Given the description of an element on the screen output the (x, y) to click on. 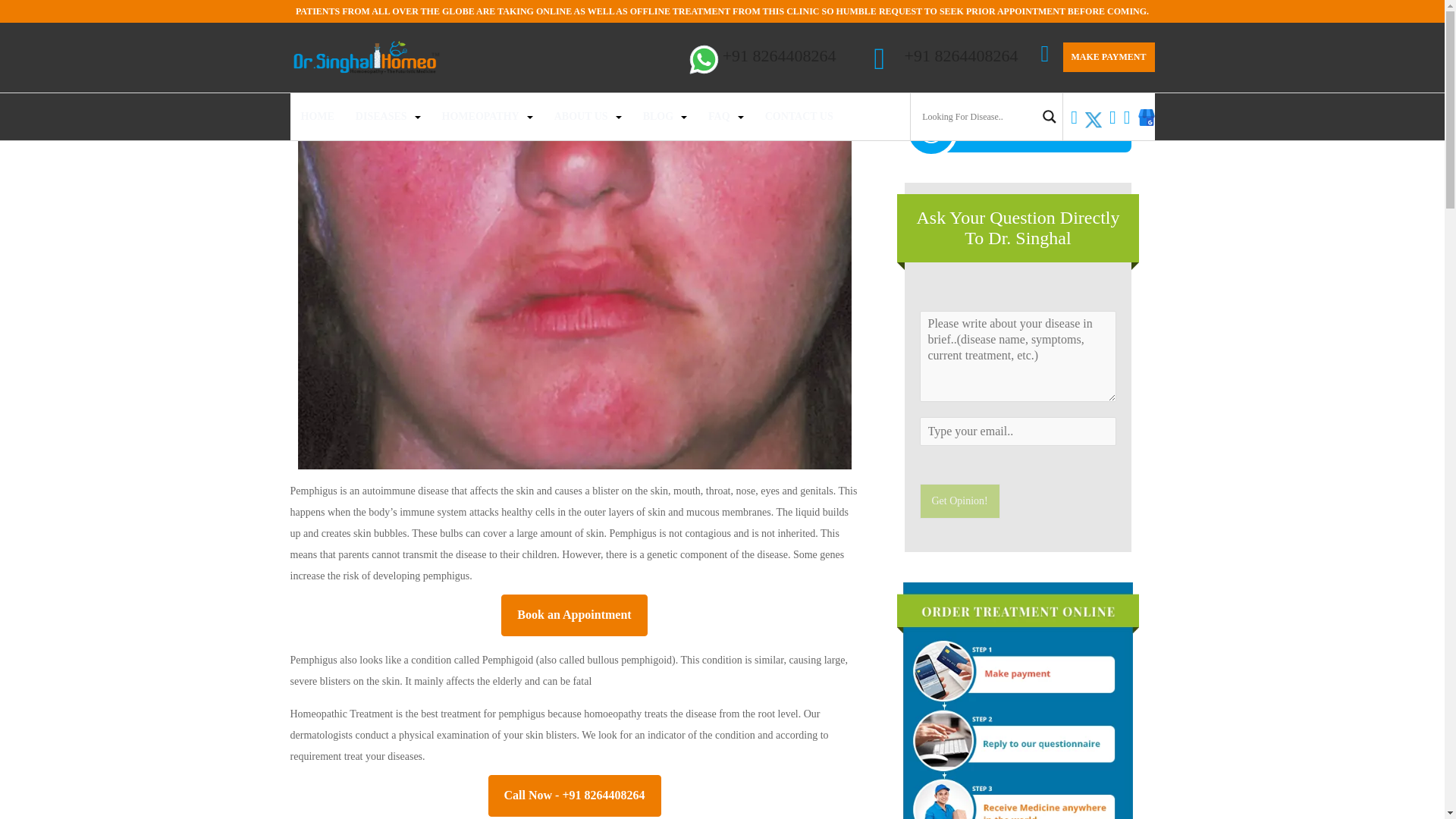
MAKE PAYMENT (1108, 57)
ABOUT US (581, 116)
HOME (316, 116)
BLOG (657, 116)
HOMEOPATHY (480, 116)
DISEASES (381, 116)
